Given the description of an element on the screen output the (x, y) to click on. 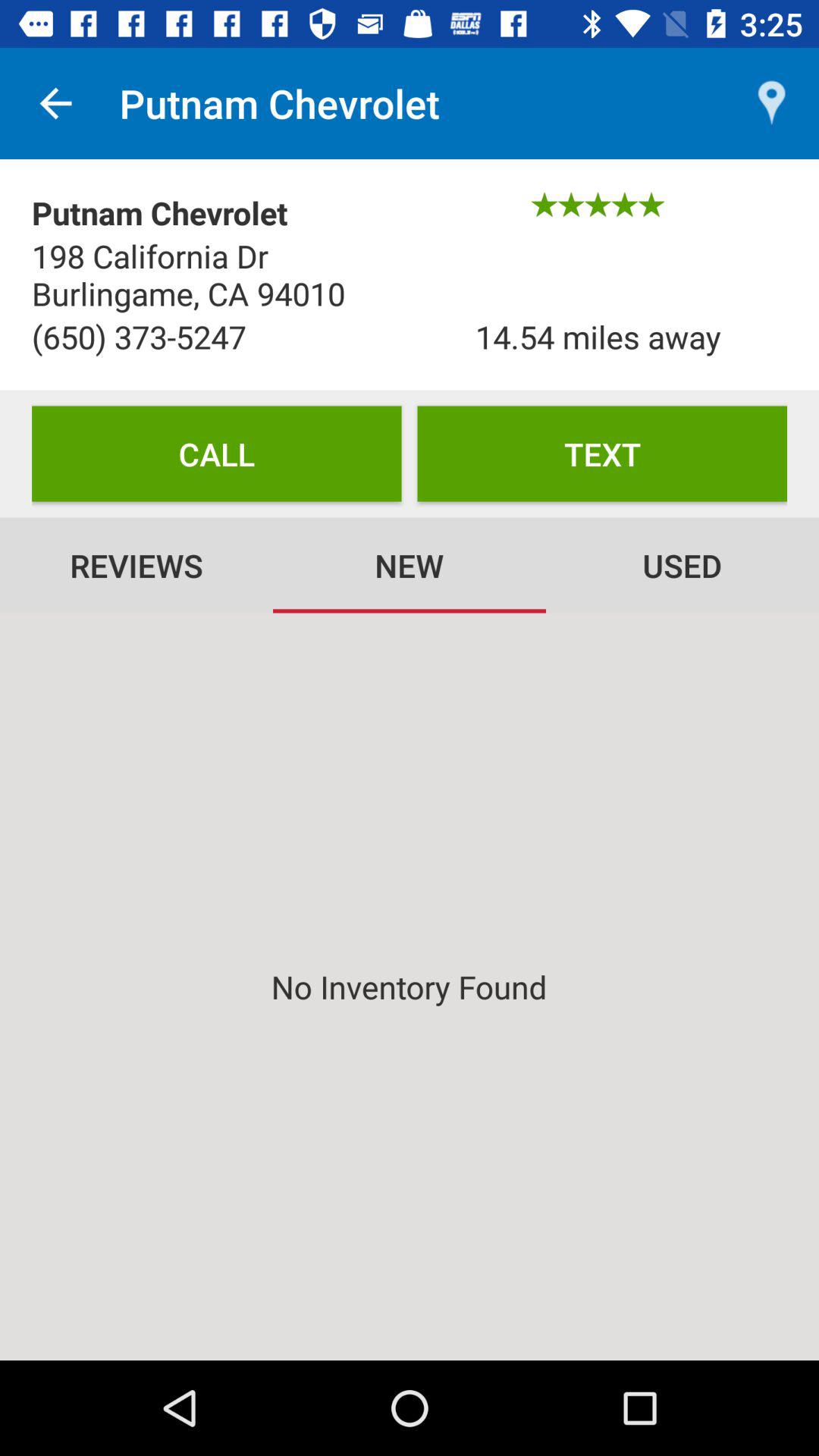
choose the call (216, 453)
